Given the description of an element on the screen output the (x, y) to click on. 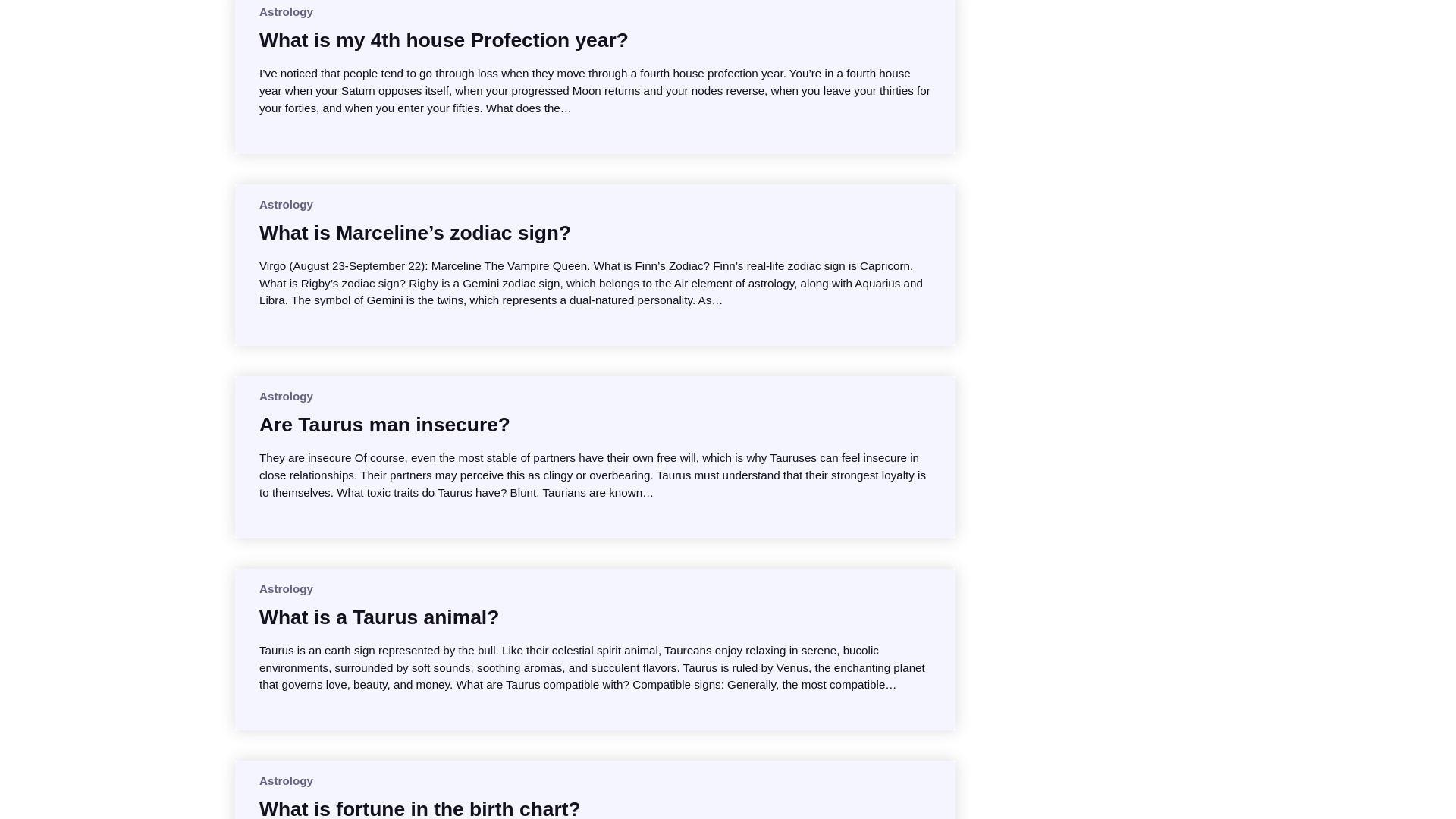
Astrology (286, 780)
Are Taurus man insecure? (385, 424)
Astrology (286, 204)
Astrology (286, 395)
Astrology (286, 11)
Astrology (286, 588)
What is my 4th house Profection year? (443, 40)
What is a Taurus animal? (379, 616)
What is fortune in the birth chart? (419, 807)
